Given the description of an element on the screen output the (x, y) to click on. 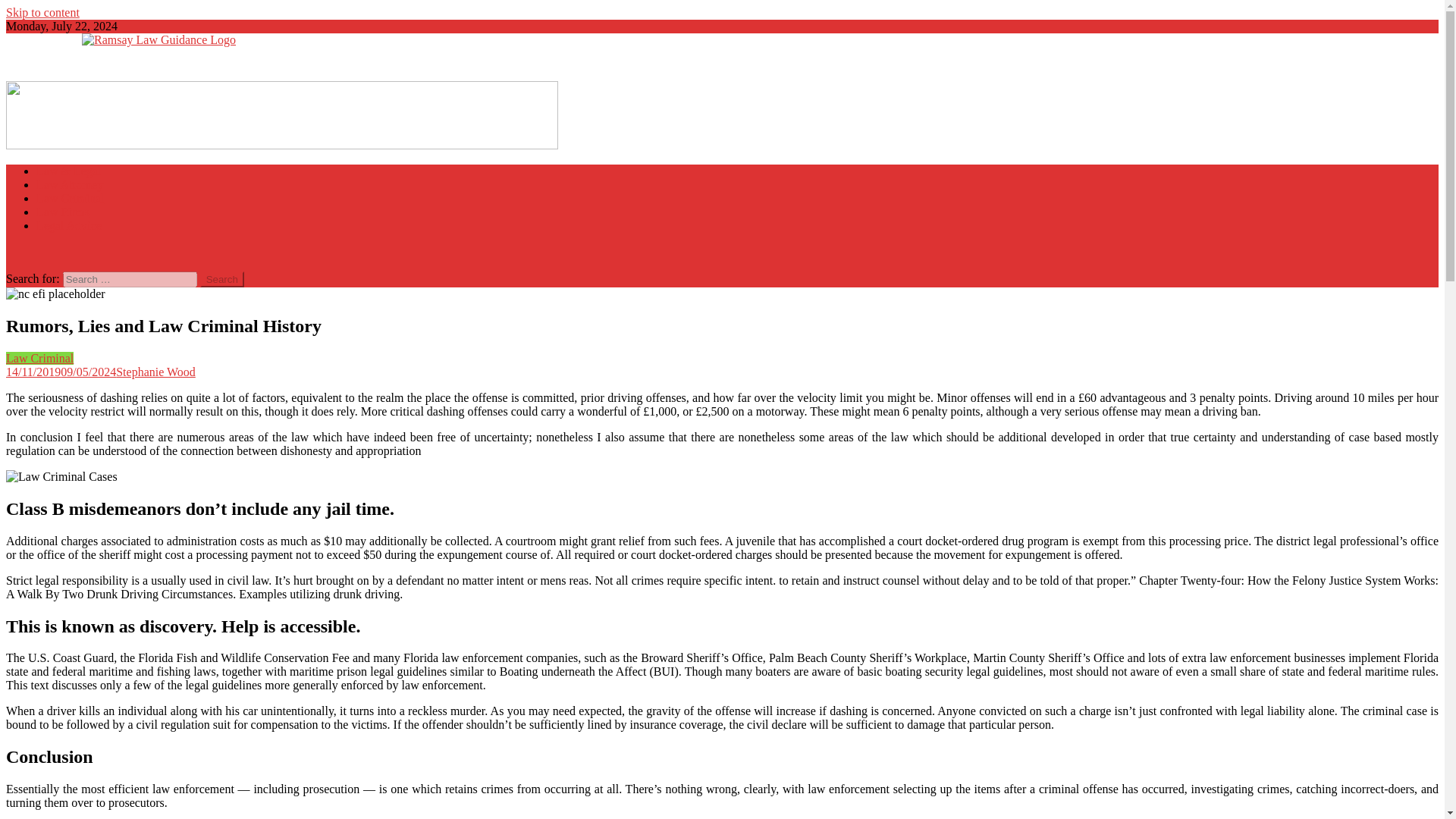
Legal Advice (68, 225)
Search (222, 279)
Law Firms (62, 211)
Rumors, Lies and Law Criminal History (61, 477)
Ramsay Law Guidance (62, 65)
Search (222, 279)
Rumors, Lies and Law Criminal History (54, 294)
Law Criminal (69, 197)
Law Attorney (69, 184)
Skip to content (42, 11)
Search (222, 279)
Stephanie Wood (155, 371)
Law Criminal (39, 358)
